Given the description of an element on the screen output the (x, y) to click on. 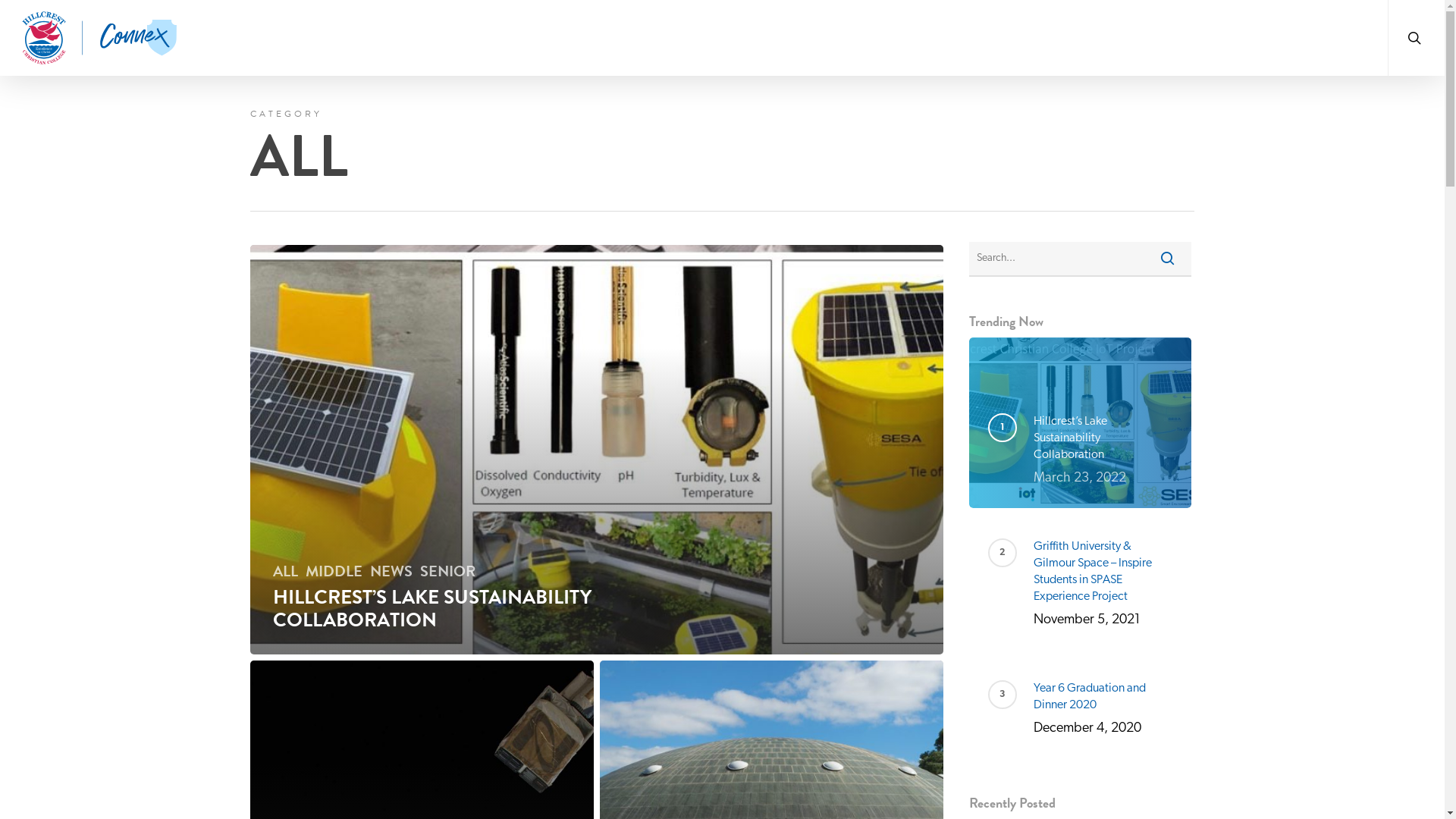
Search for: Element type: hover (1080, 258)
MIDDLE Element type: text (333, 570)
ALL Element type: text (285, 570)
Year 6 Graduation and Dinner 2020
December 4, 2020 Element type: text (1102, 709)
(07) 5593 4226 Element type: text (722, 609)
NEWS Element type: text (391, 570)
SENIOR Element type: text (447, 570)
